Given the description of an element on the screen output the (x, y) to click on. 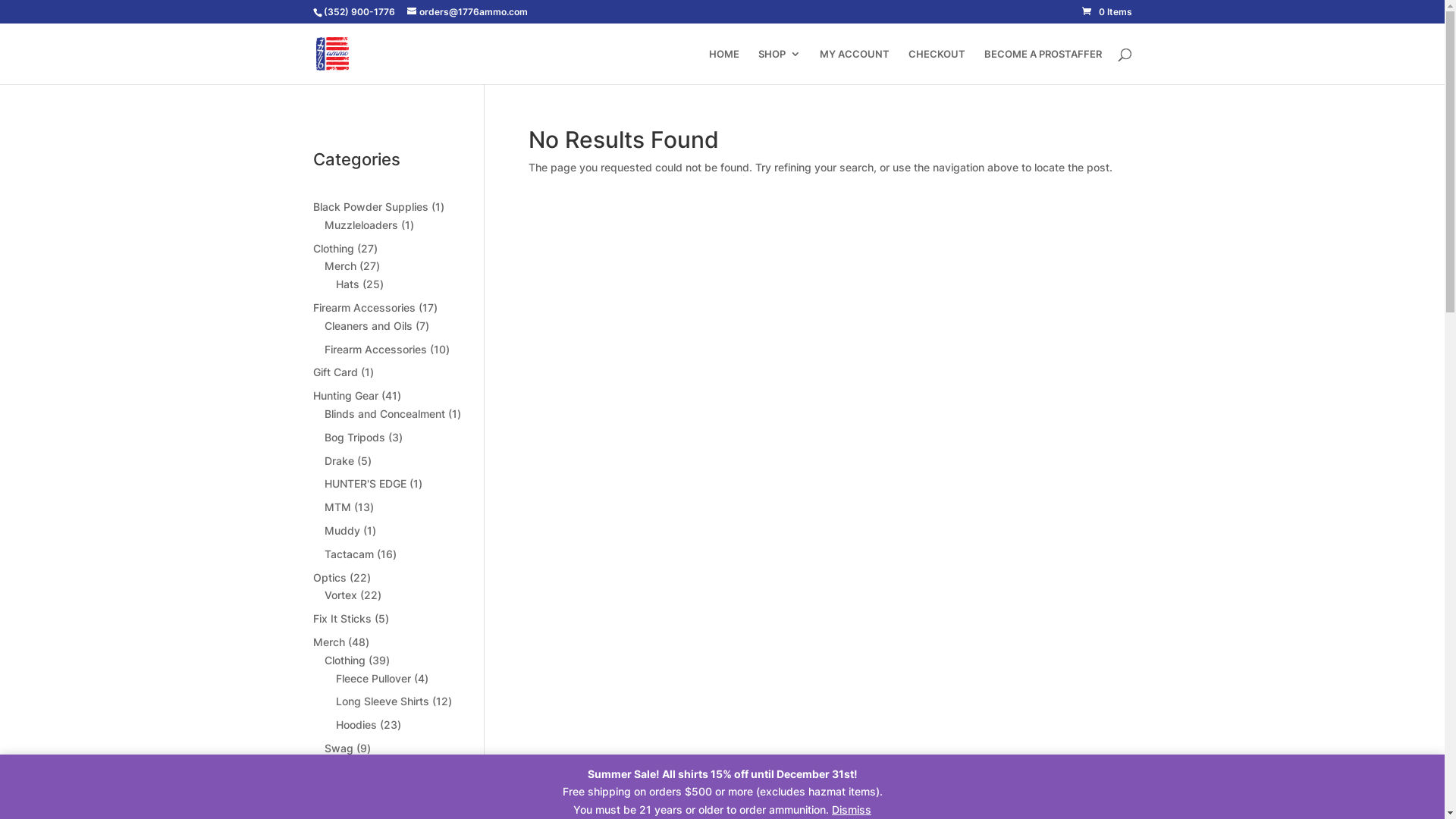
MY ACCOUNT Element type: text (853, 66)
Cleaners and Oils Element type: text (368, 325)
Hoodies Element type: text (355, 724)
Gift Card Element type: text (334, 371)
CHECKOUT Element type: text (936, 66)
Clothing Element type: text (344, 659)
MTM Element type: text (337, 506)
Swag Element type: text (338, 747)
Long Sleeve Shirts Element type: text (381, 700)
Vortex Element type: text (340, 594)
Fix It Sticks Element type: text (341, 617)
Merch Element type: text (328, 641)
Firearm Accessories Element type: text (363, 307)
0 Items Element type: text (1106, 11)
Clothing Element type: text (332, 247)
Hats Element type: text (346, 283)
Hunting Gear Element type: text (344, 395)
Merch Element type: text (340, 265)
SHOP Element type: text (779, 66)
Bog Tripods Element type: text (354, 436)
Black Powder Supplies Element type: text (369, 206)
Fleece Pullover Element type: text (372, 677)
Muzzleloaders Element type: text (361, 224)
orders@1776ammo.com Element type: text (466, 11)
Optics Element type: text (328, 577)
Firearm Accessories Element type: text (375, 348)
Drake Element type: text (339, 460)
BECOME A PROSTAFFER Element type: text (1042, 66)
Tactacam Element type: text (348, 553)
Koozies Element type: text (354, 765)
Dismiss Element type: text (851, 809)
Stickers Element type: text (355, 789)
HOME Element type: text (723, 66)
Muddy Element type: text (342, 530)
Blinds and Concealment Element type: text (384, 413)
HUNTER'S EDGE Element type: text (365, 482)
